Given the description of an element on the screen output the (x, y) to click on. 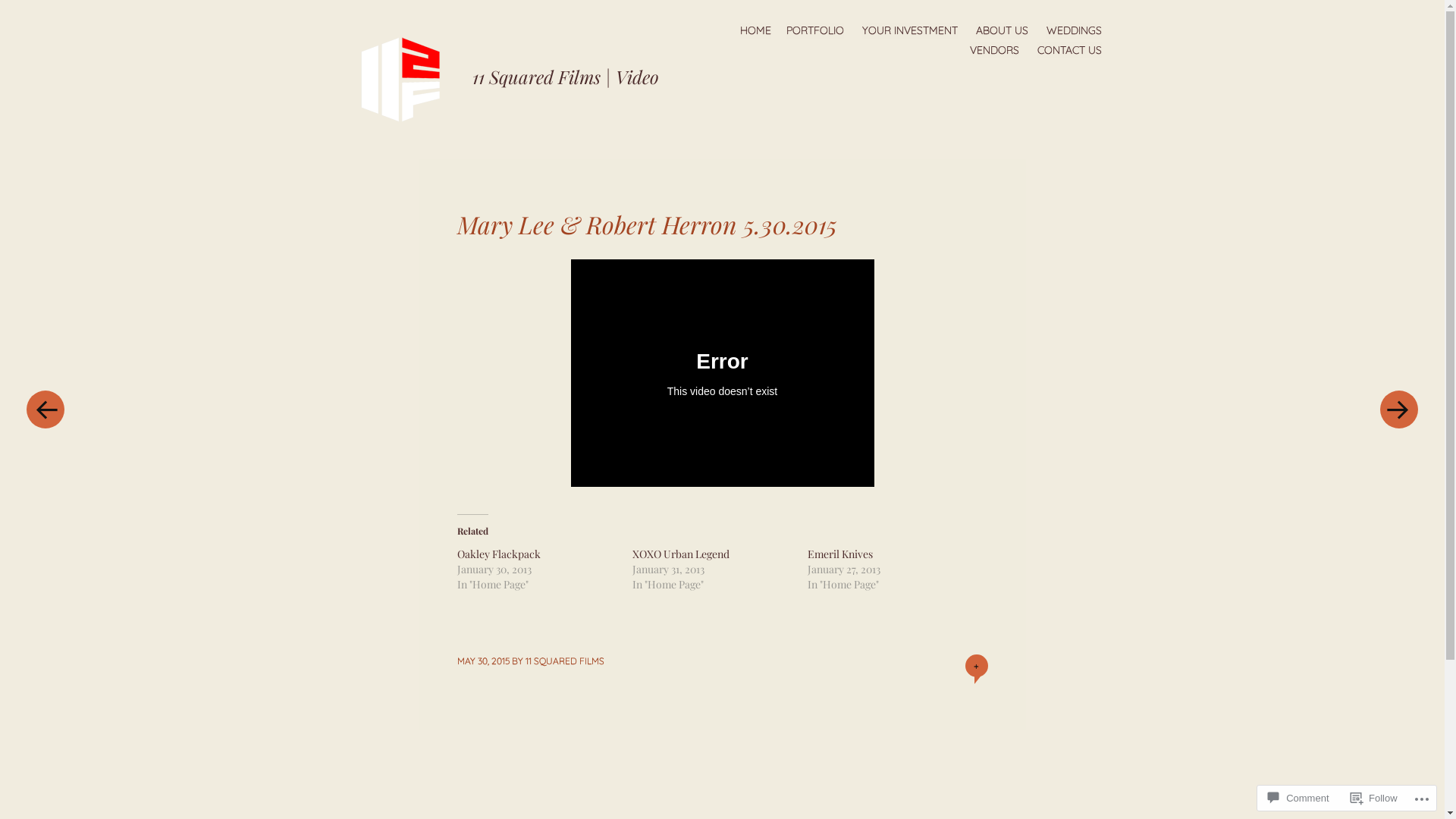
HOME Element type: text (755, 30)
VENDORS Element type: text (993, 50)
11 Squared Films | Video Element type: text (564, 76)
PORTFOLIO Element type: text (814, 30)
11 Squared Films | Video Element type: hover (406, 77)
WEDDINGS Element type: text (1073, 30)
CONTACT US Element type: text (1069, 50)
ABOUT US Element type: text (1001, 30)
MAY 30, 2015 Element type: text (482, 660)
XOXO Urban Legend Element type: text (680, 553)
11 SQUARED FILMS Element type: text (563, 660)
Oakley Flackpack Element type: text (497, 553)
+ Element type: text (975, 665)
Emeril Knives Element type: text (839, 553)
Follow Element type: text (1373, 797)
Comment Element type: text (1297, 797)
YOUR INVESTMENT Element type: text (909, 30)
